Given the description of an element on the screen output the (x, y) to click on. 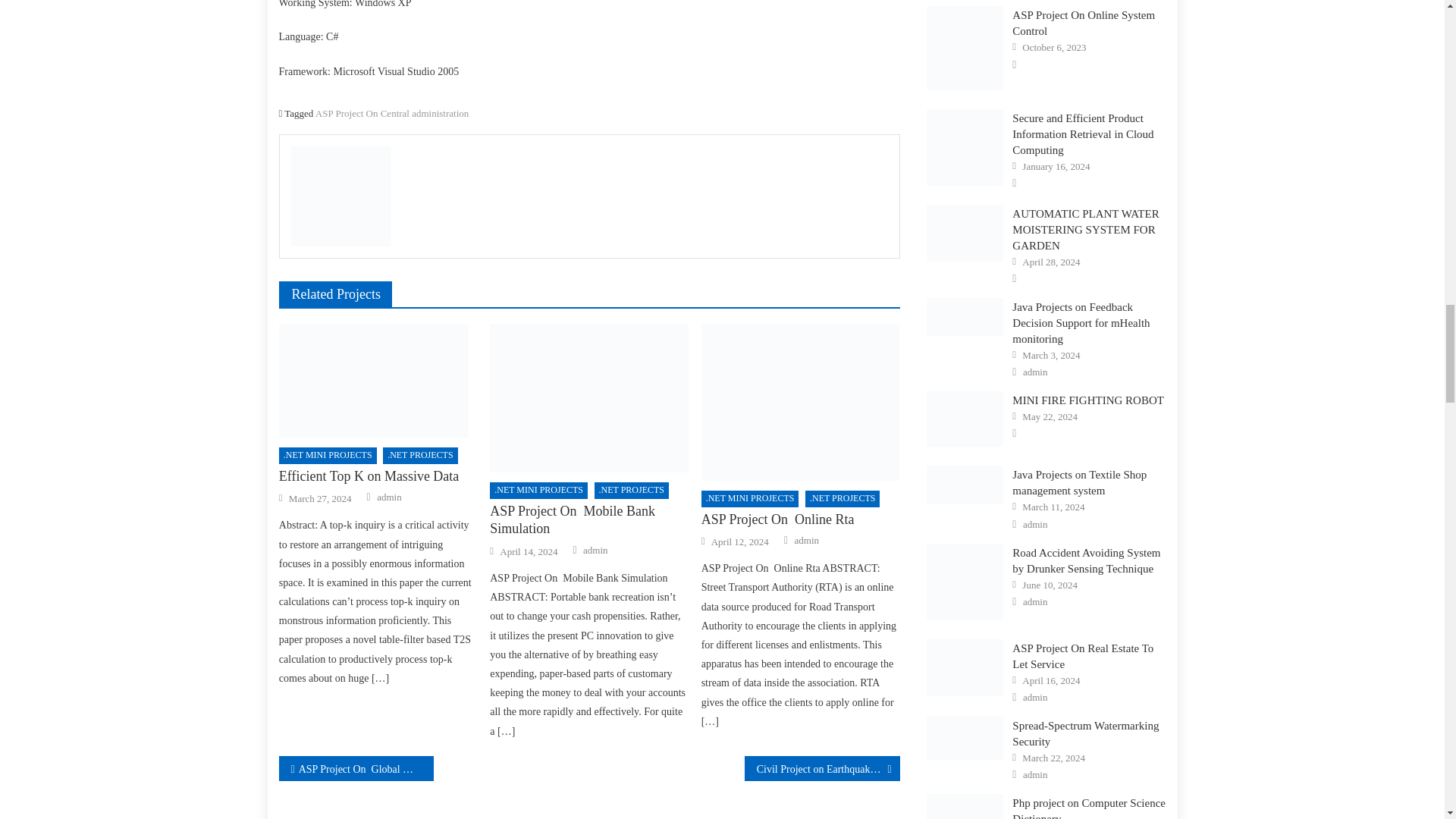
Efficient Top K on Massive Data (378, 380)
